Given the description of an element on the screen output the (x, y) to click on. 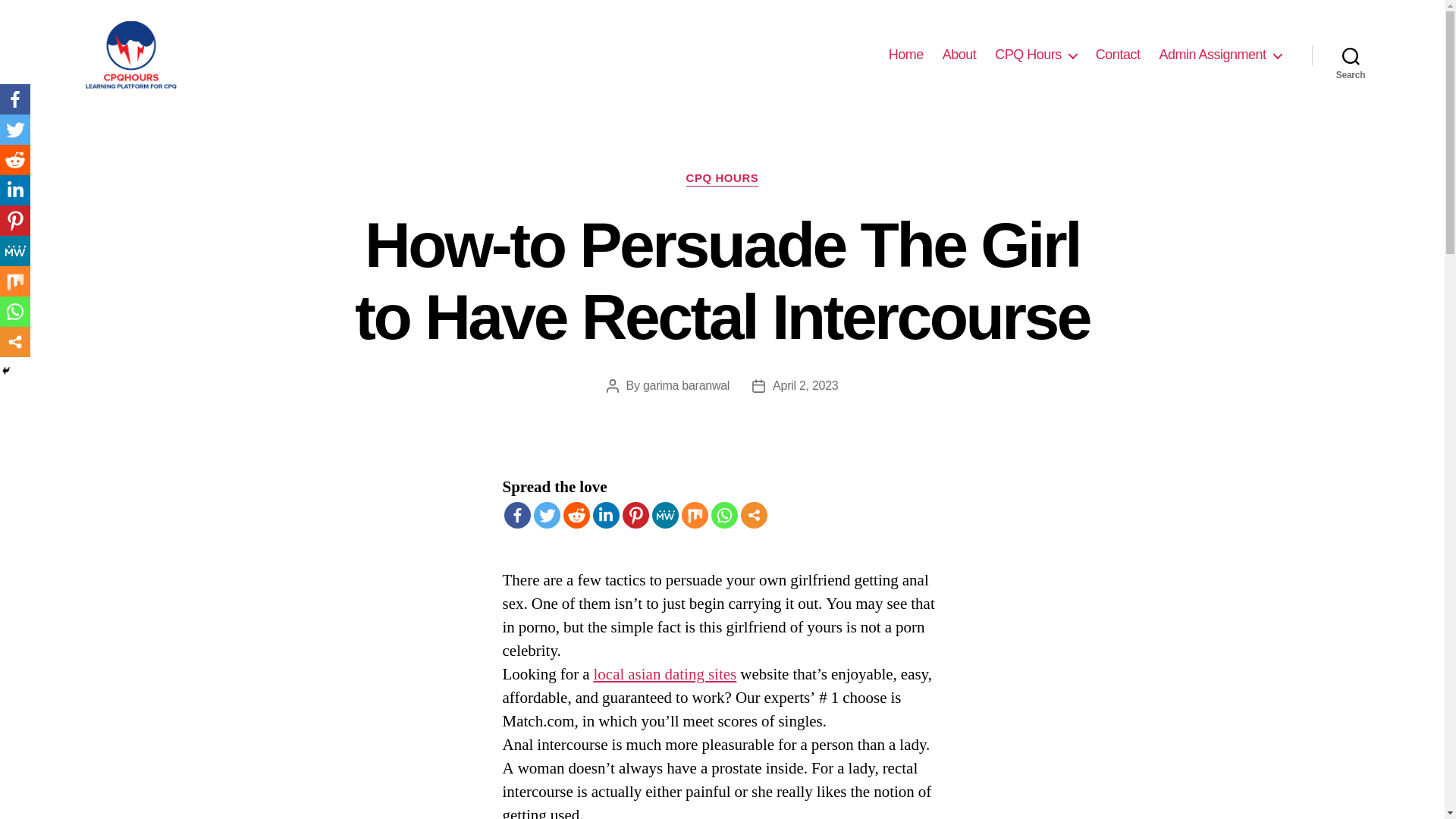
Linkedin (606, 515)
Reddit (15, 159)
CPQ HOURS (721, 178)
garima baranwal (686, 385)
Pinterest (15, 220)
Mix (694, 515)
April 2, 2023 (805, 385)
More (753, 515)
Pinterest (634, 515)
MeWe (665, 515)
Reddit (575, 515)
Twitter (547, 515)
Home (905, 54)
Linkedin (15, 190)
Admin Assignment (1219, 54)
